Given the description of an element on the screen output the (x, y) to click on. 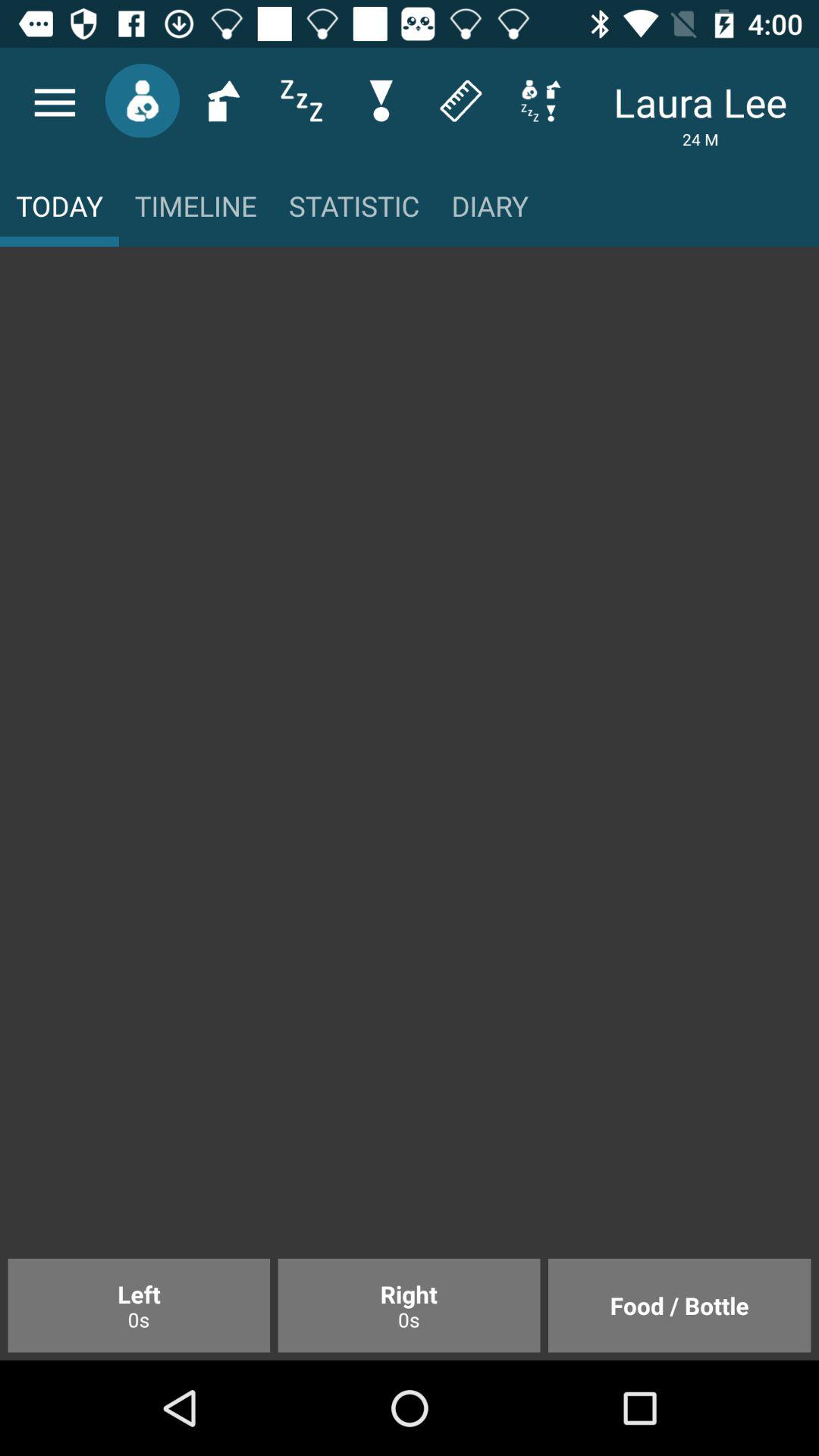
turn on item to the left of the right
0s (138, 1305)
